Given the description of an element on the screen output the (x, y) to click on. 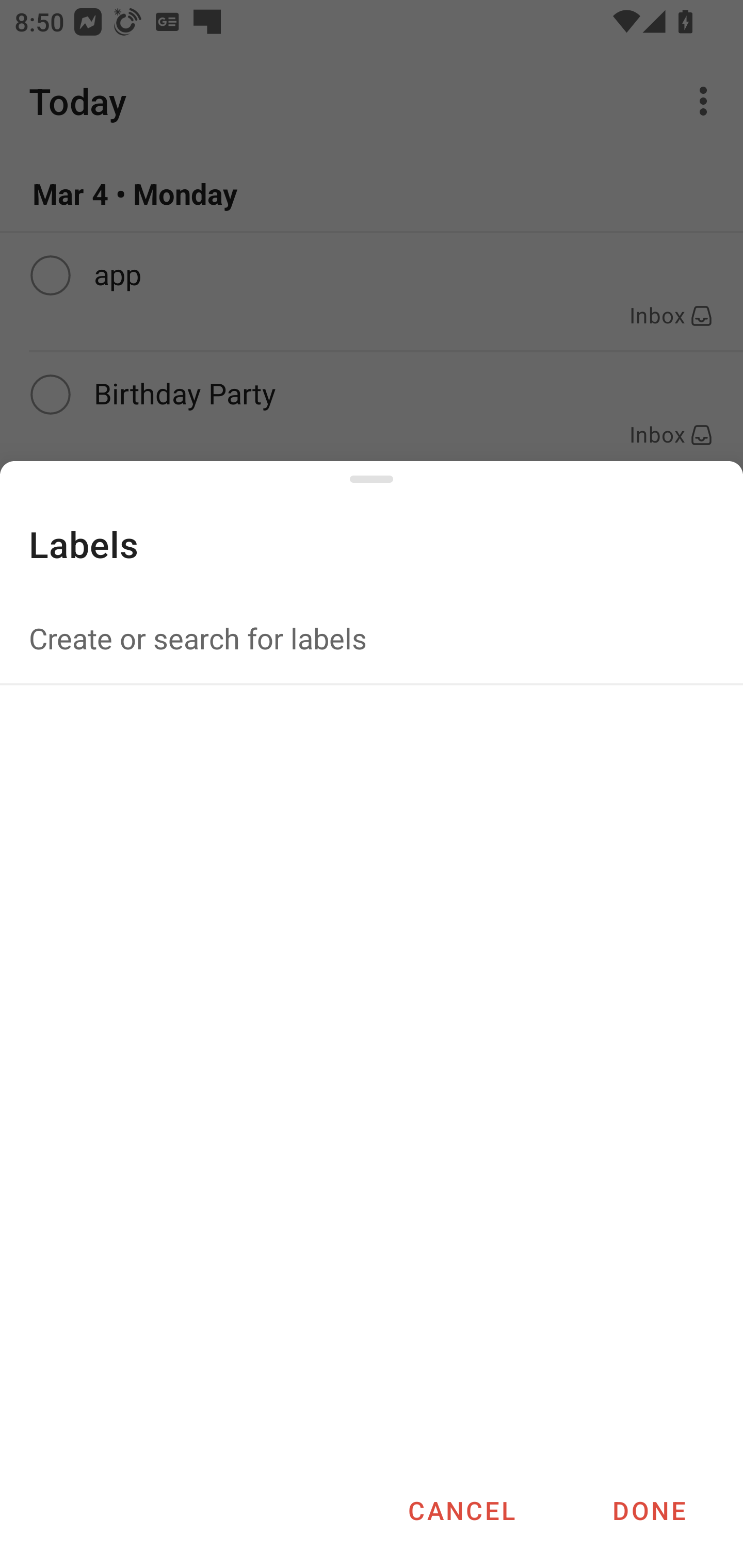
Create or search for labels (371, 638)
CANCEL (460, 1510)
DONE (648, 1510)
